Given the description of an element on the screen output the (x, y) to click on. 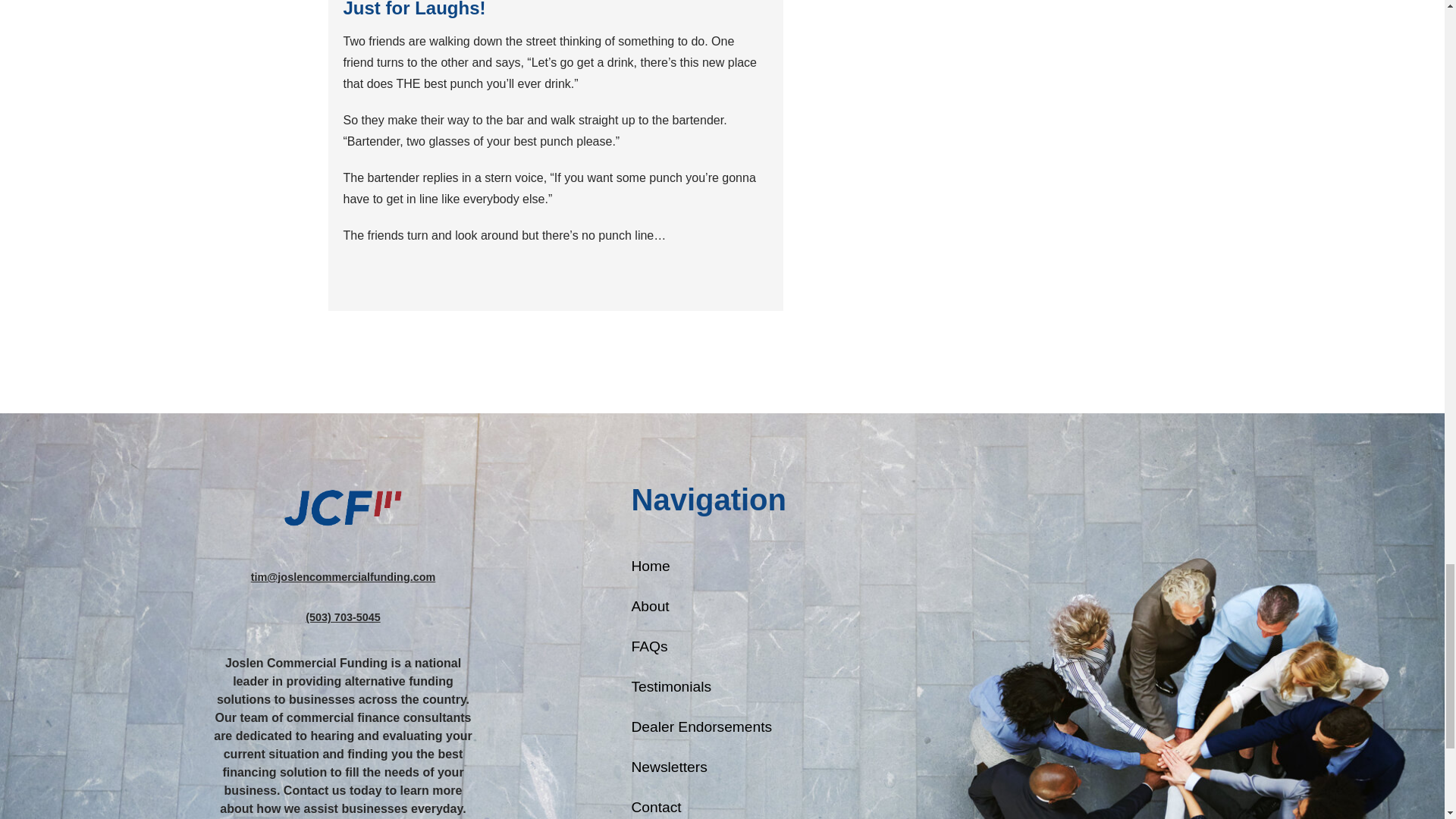
FAQs (713, 646)
Home (713, 566)
About (713, 606)
Contact (713, 807)
Dealer Endorsements (713, 726)
Newsletters (713, 767)
Testimonials (713, 686)
